Given the description of an element on the screen output the (x, y) to click on. 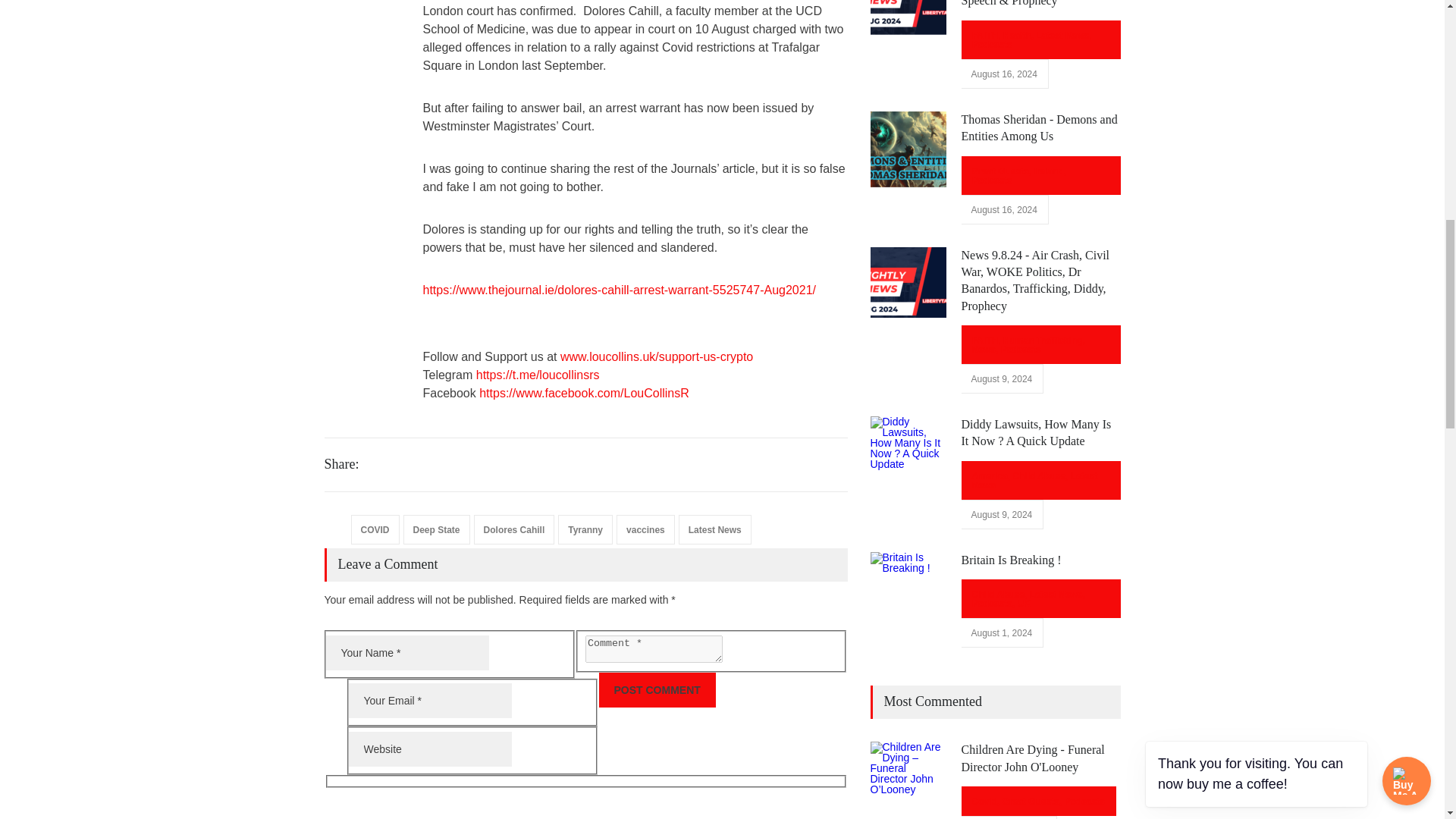
Tyranny (584, 529)
COVID (374, 529)
Dolores Cahill (514, 529)
POST COMMENT (657, 689)
Latest News (714, 529)
View all posts filed under Dolores Cahill (514, 529)
vaccines (645, 529)
View all posts filed under COVID (374, 529)
